Given the description of an element on the screen output the (x, y) to click on. 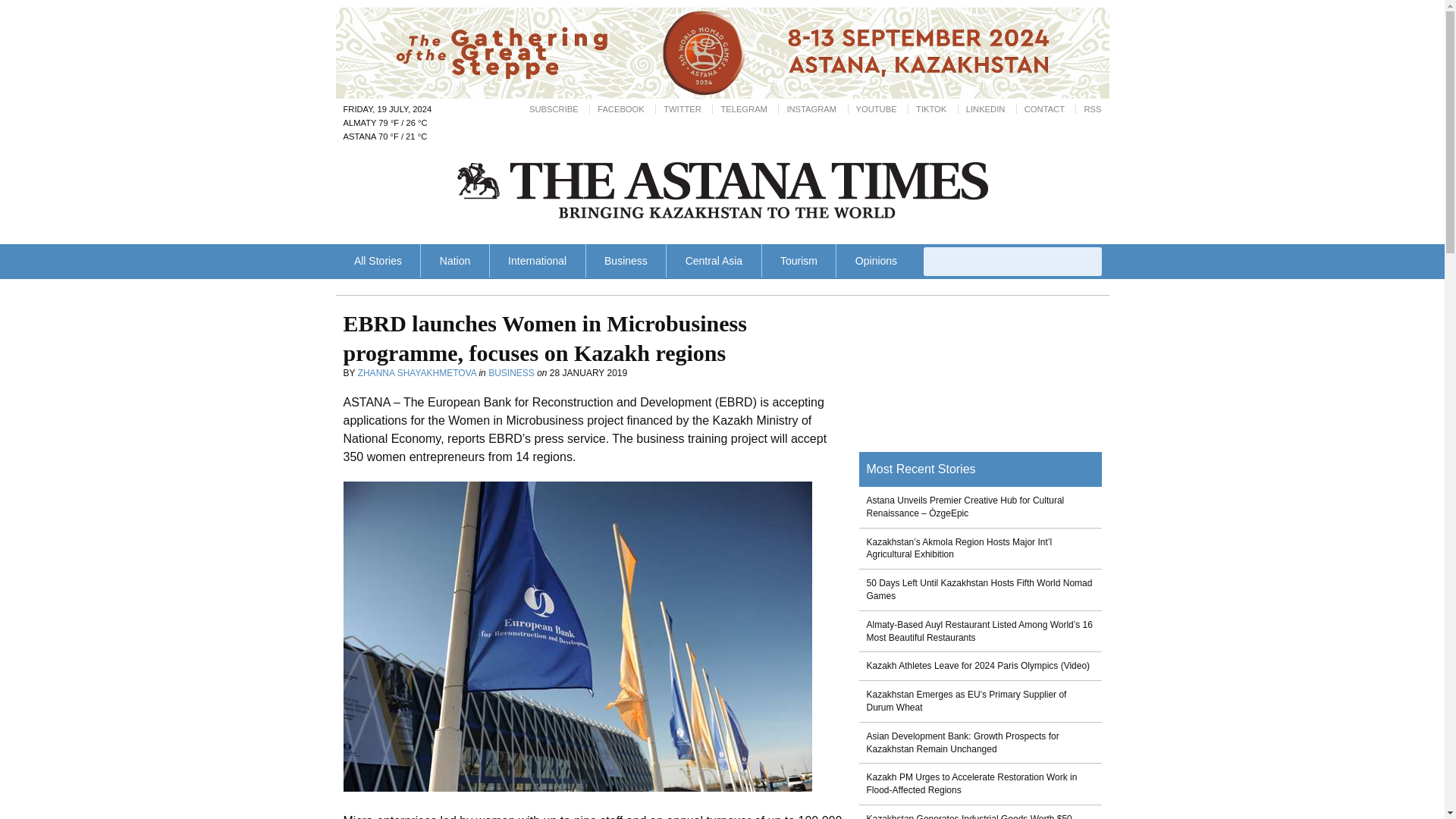
YOUTUBE (876, 108)
TIKTOK (930, 108)
LINKEDIN (986, 108)
INSTAGRAM (810, 108)
TWITTER (682, 108)
TELEGRAM (743, 108)
SUBSCRIBE (553, 108)
CONTACT (1044, 108)
FACEBOOK (620, 108)
RSS (1091, 108)
